Given the description of an element on the screen output the (x, y) to click on. 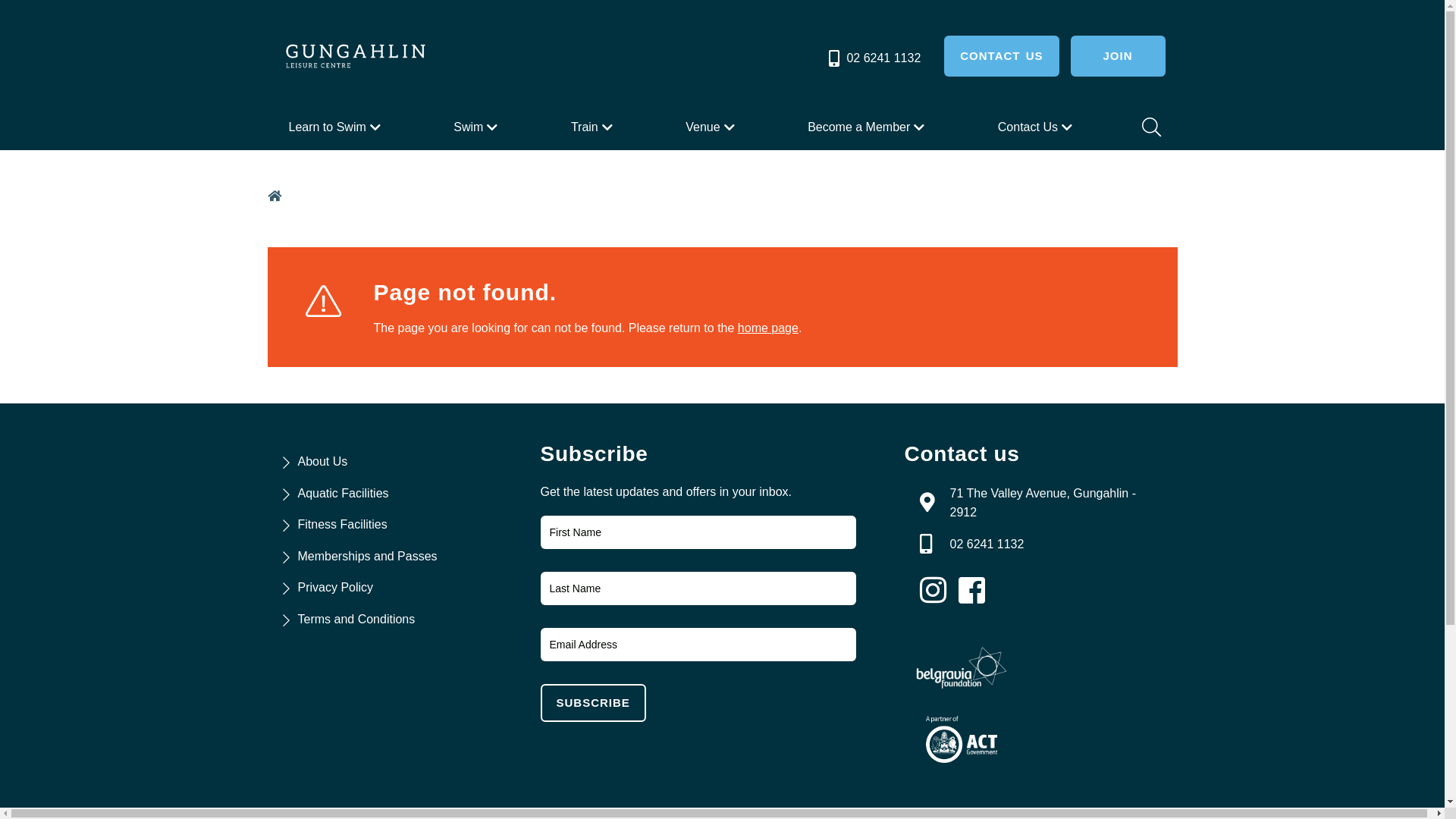
About Us Element type: text (322, 461)
Fitness Facilities Element type: text (341, 523)
Memberships and Passes Element type: text (366, 555)
02 6241 1132 Element type: text (986, 543)
  Element type: text (975, 590)
Train Element type: text (593, 127)
Privacy Policy Element type: text (335, 586)
Become a Member Element type: text (867, 127)
home page Element type: text (767, 327)
  Element type: text (275, 195)
Terms and Conditions Element type: text (355, 618)
Learn to Swim Element type: text (335, 127)
CONTACT US Element type: text (1001, 55)
Contact Us Element type: text (1036, 127)
JOIN Element type: text (1117, 55)
Swim Element type: text (477, 127)
02 6241 1132 Element type: text (872, 58)
  Element type: text (936, 590)
Venue Element type: text (711, 127)
subscribe Element type: text (592, 702)
Aquatic Facilities Element type: text (342, 492)
Search Element type: text (1150, 127)
